Given the description of an element on the screen output the (x, y) to click on. 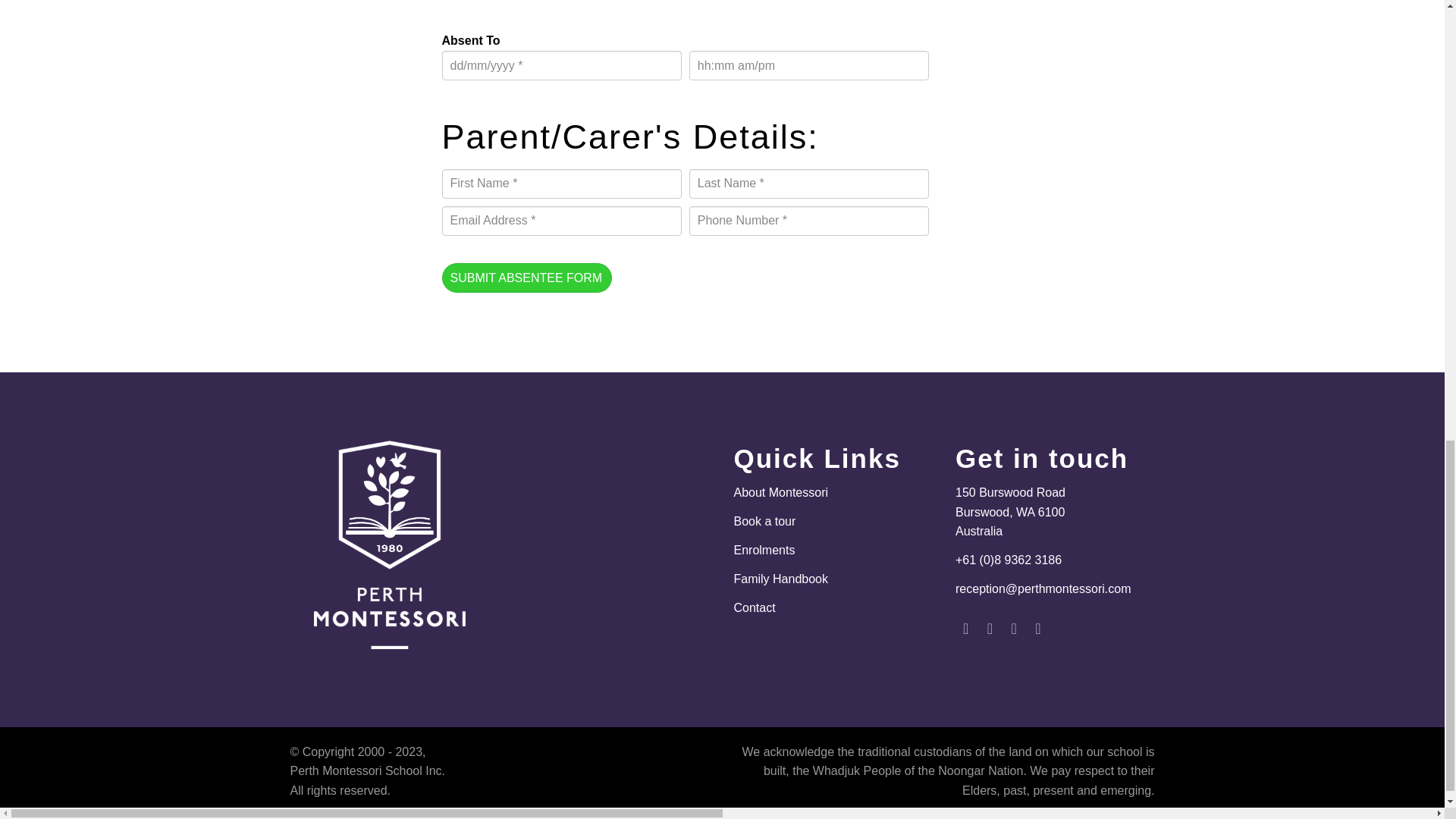
Enrolments (763, 549)
About Montessori (780, 492)
Submit Absentee Form (526, 277)
Book a tour (764, 521)
Submit Absentee Form (526, 277)
